Given the description of an element on the screen output the (x, y) to click on. 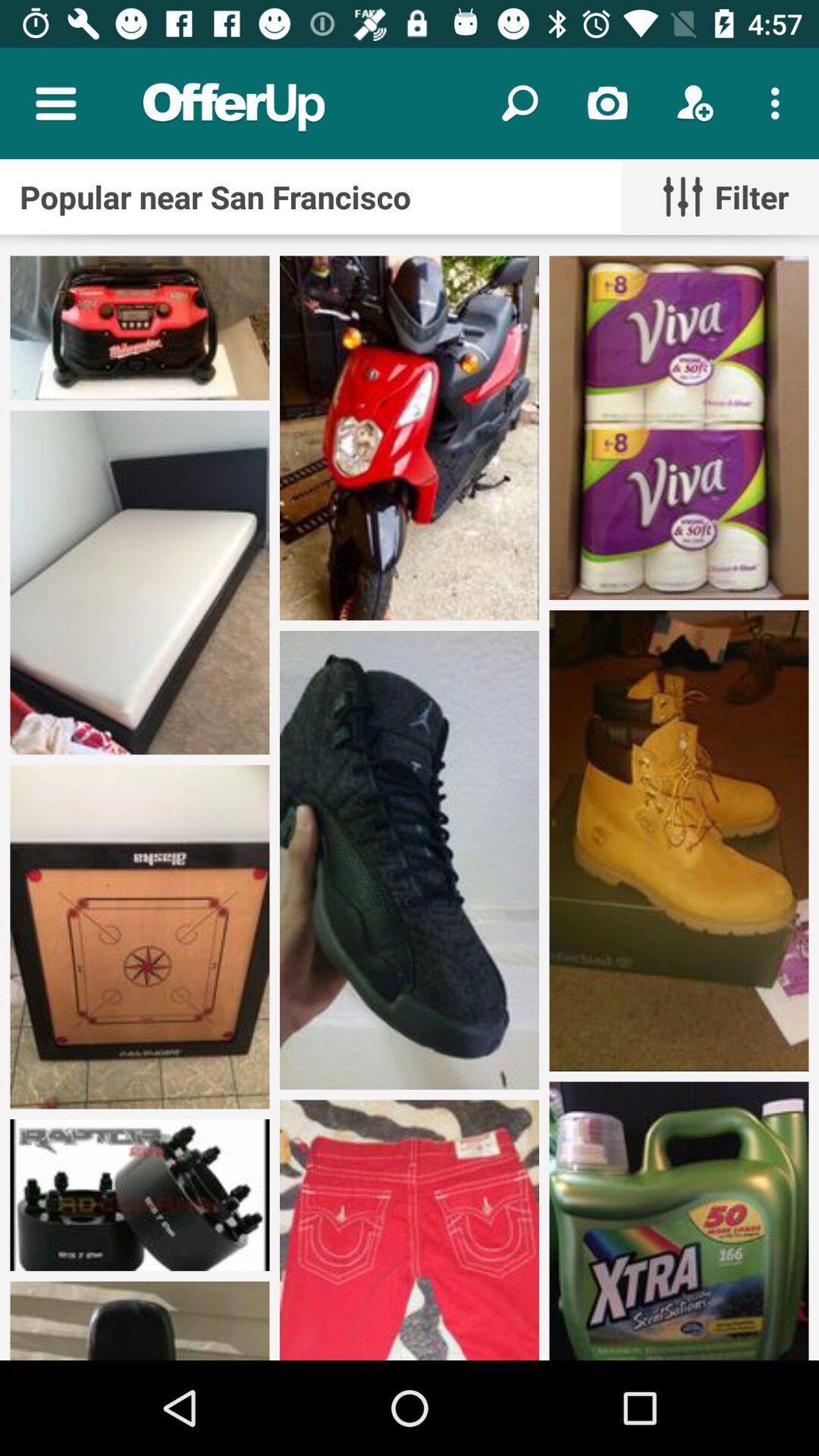
select the image which is on the bottom right corner of page (679, 1220)
select the image which is immediately above carrom board image (140, 582)
select the third image (679, 427)
click on the bed image (140, 582)
go to the scooter image (409, 438)
click on the search option (520, 103)
select icon filter  (719, 196)
select the image in which theres viva product (679, 427)
click on the image which consists of red jeans (409, 1229)
click on the image of third column third image (679, 1220)
